Given the description of an element on the screen output the (x, y) to click on. 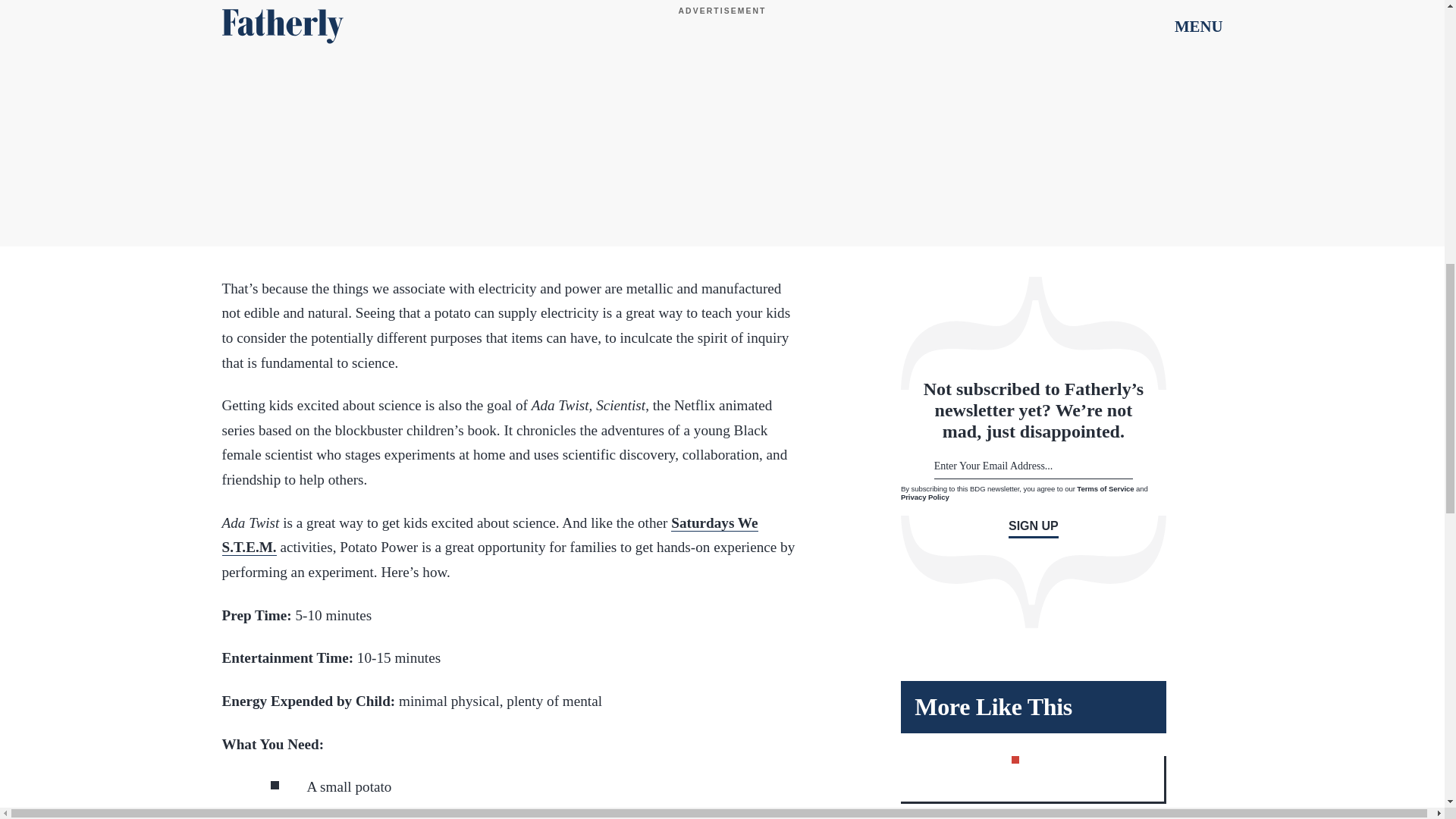
Saturdays We S.T.E.M. (489, 535)
Privacy Policy (925, 497)
SIGN UP (1033, 528)
Terms of Service (1105, 488)
